Given the description of an element on the screen output the (x, y) to click on. 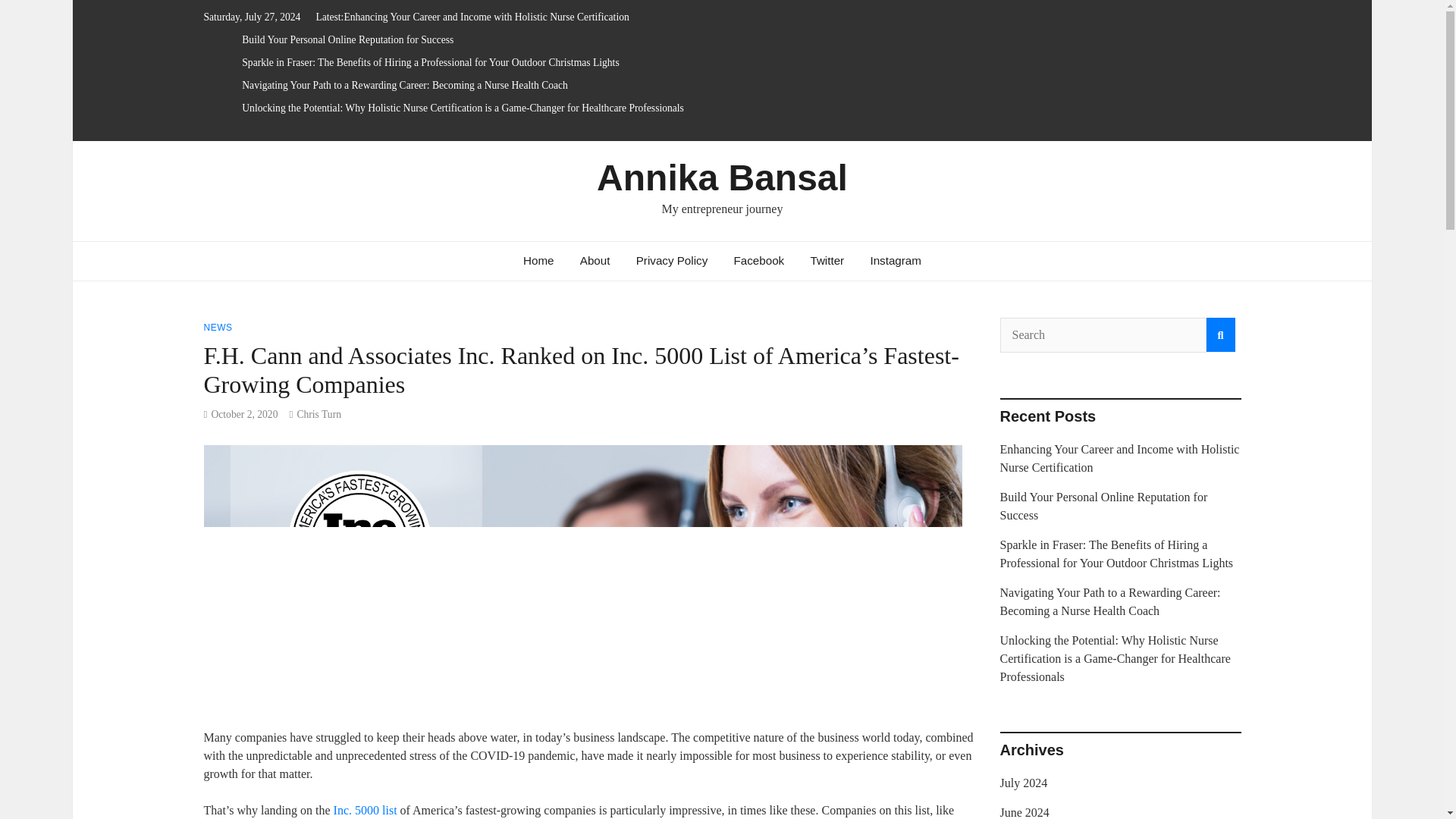
Home (539, 260)
Instagram (896, 260)
Chris Turn (318, 414)
Facebook (758, 260)
Privacy Policy (671, 260)
Build Your Personal Online Reputation for Success (346, 39)
Inc. 5000 list (365, 809)
About (595, 260)
NEWS (217, 327)
Annika Bansal (721, 178)
